Given the description of an element on the screen output the (x, y) to click on. 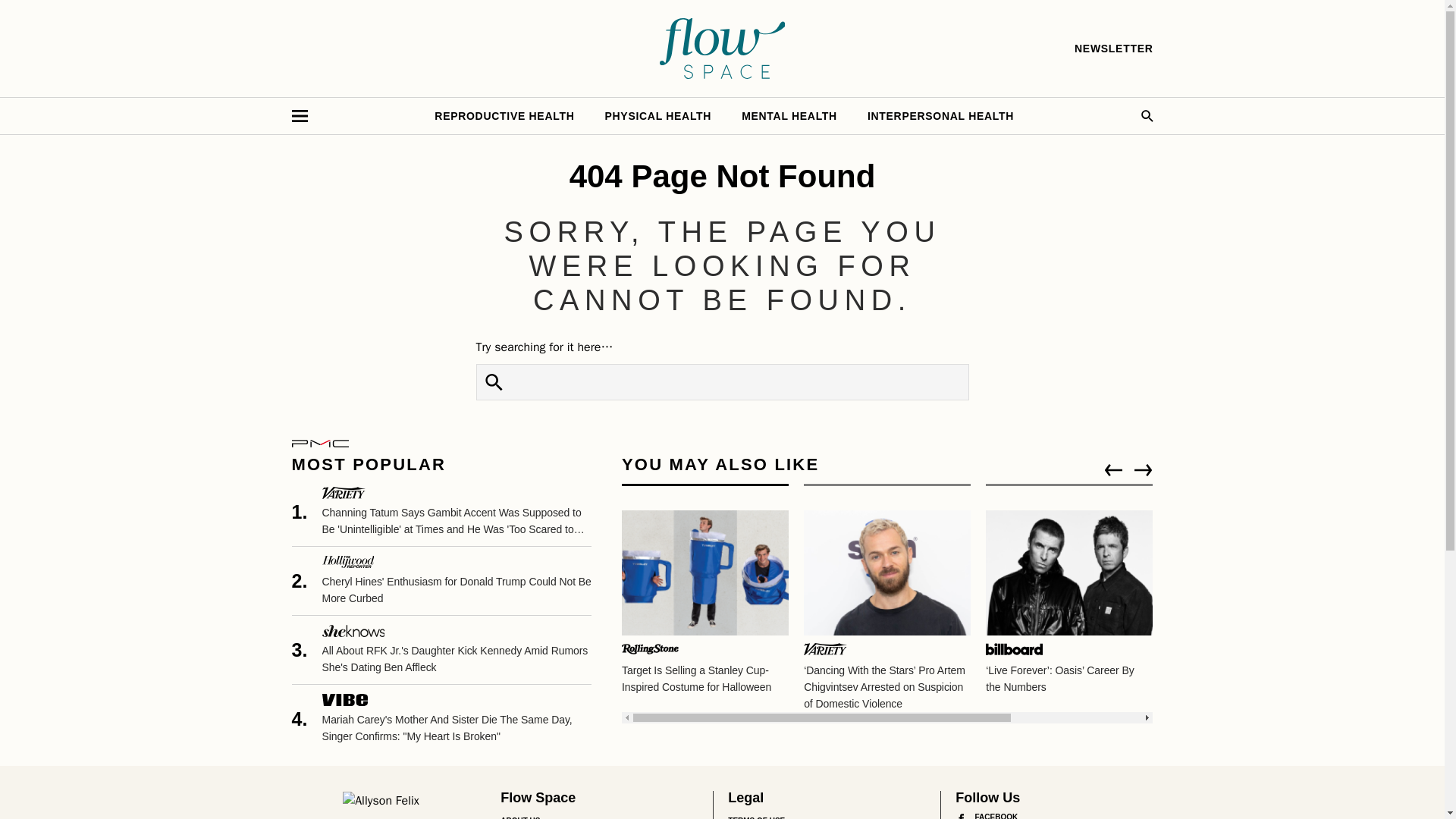
NEWSLETTER (1113, 48)
INTERPERSONAL HEALTH (940, 115)
Submit (494, 381)
REPRODUCTIVE HEALTH (503, 115)
MENTAL HEALTH (789, 115)
PHYSICAL HEALTH (658, 115)
